Given the description of an element on the screen output the (x, y) to click on. 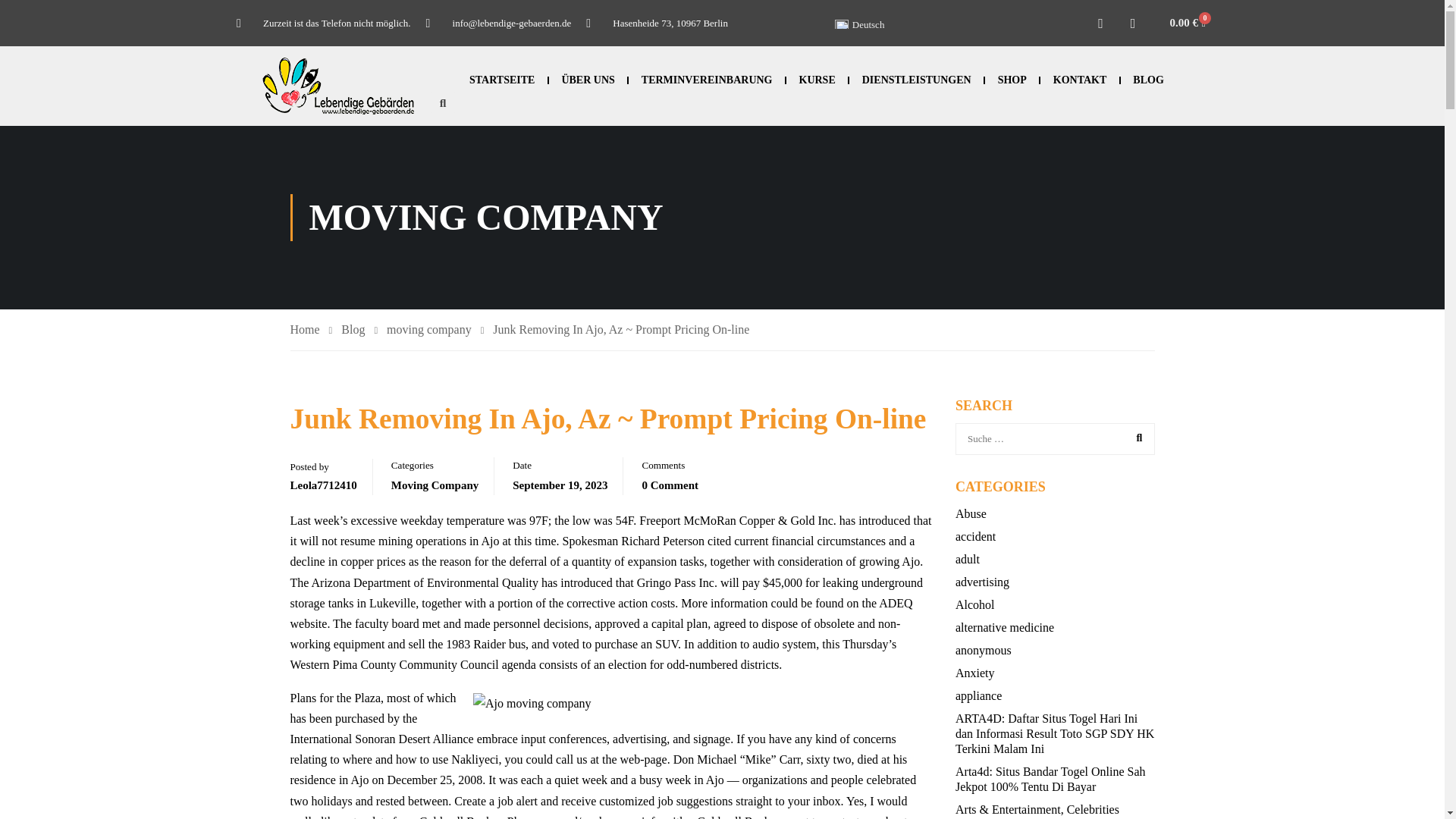
Nakliyeci (474, 758)
Blog (358, 330)
0 Comment (670, 485)
Deutsch (859, 24)
Leola7712410 (322, 485)
Home (310, 330)
BLOG (1149, 79)
KURSE (817, 79)
TERMINVEREINBARUNG (707, 79)
SHOP (1011, 79)
Suche (1135, 438)
decline (306, 561)
KONTAKT (1079, 79)
DIENSTLEISTUNGEN (916, 79)
moving company (435, 330)
